Given the description of an element on the screen output the (x, y) to click on. 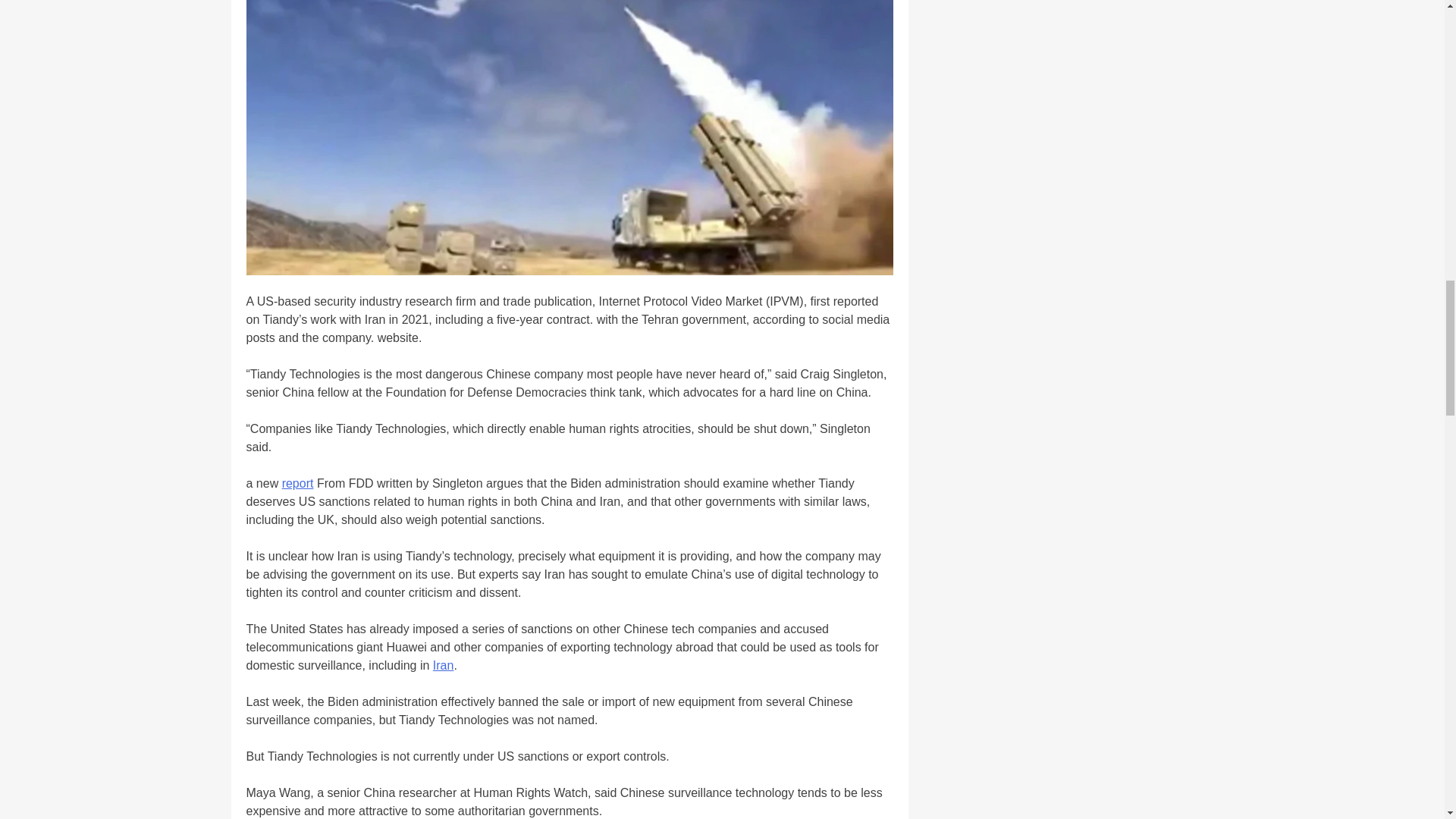
report (298, 482)
Iran (443, 665)
